Given the description of an element on the screen output the (x, y) to click on. 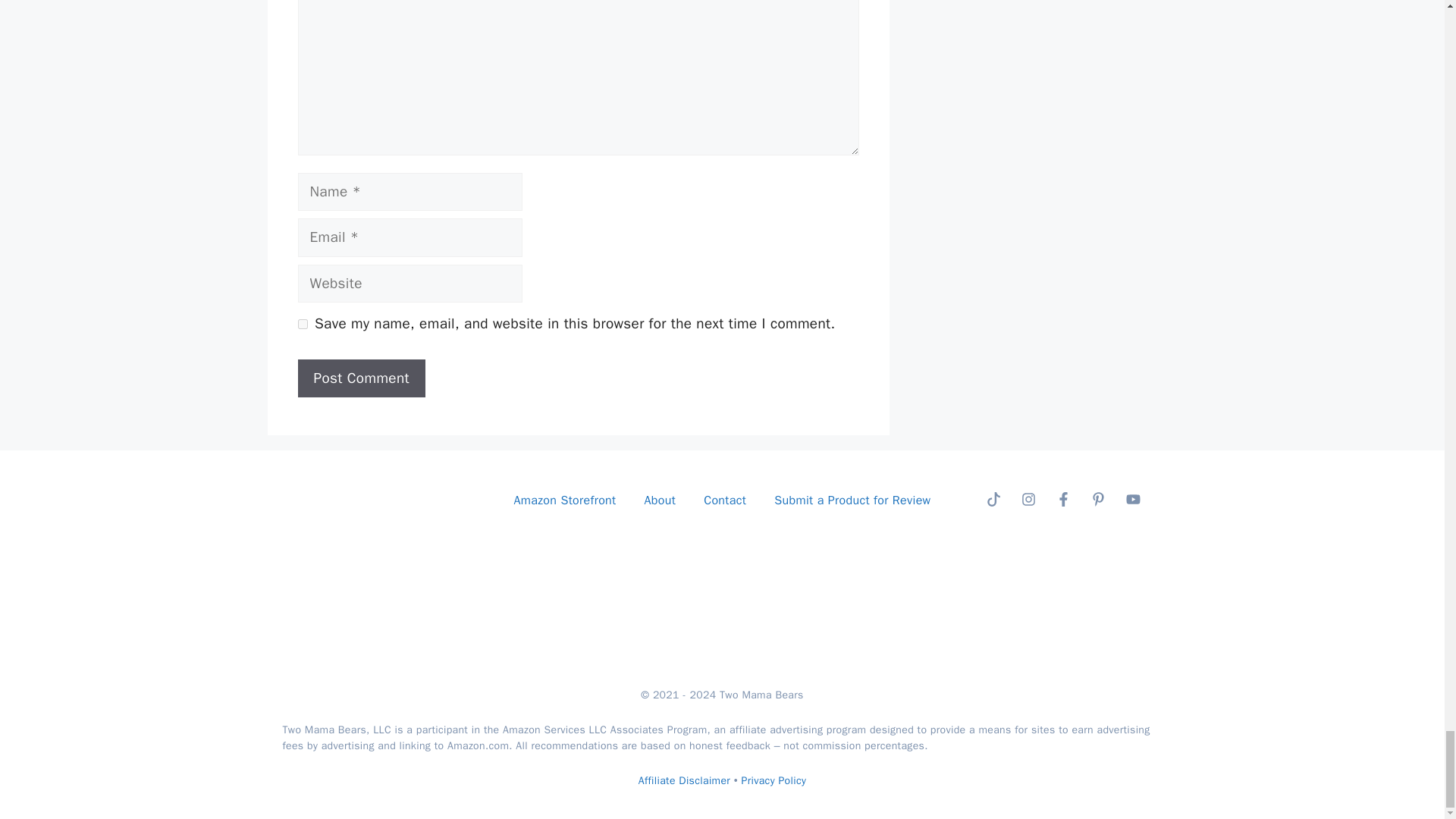
yes (302, 324)
Color-logo-footer (374, 500)
Post Comment (361, 378)
Post Comment (361, 378)
